Given the description of an element on the screen output the (x, y) to click on. 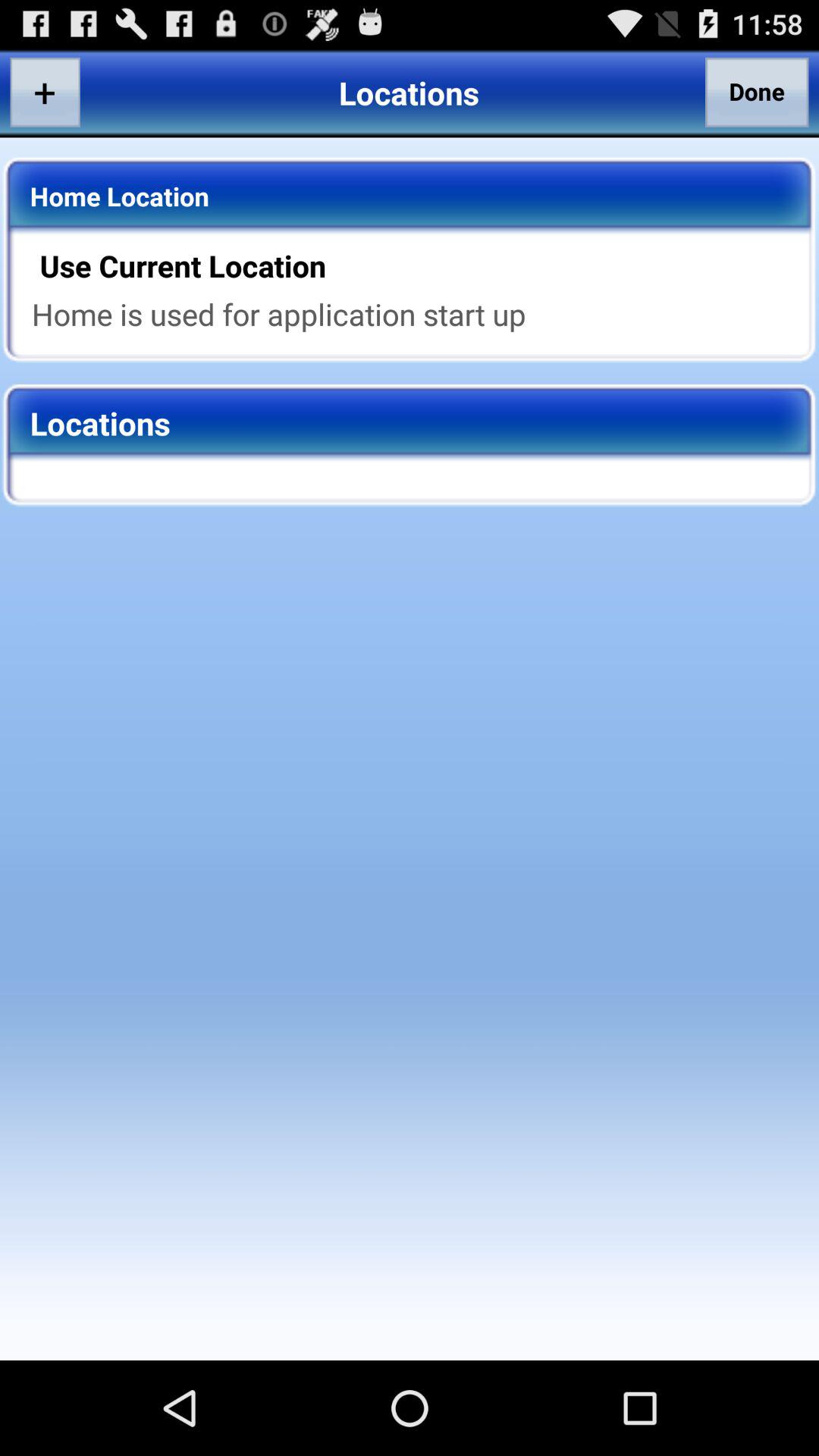
choose app next to locations (45, 92)
